Given the description of an element on the screen output the (x, y) to click on. 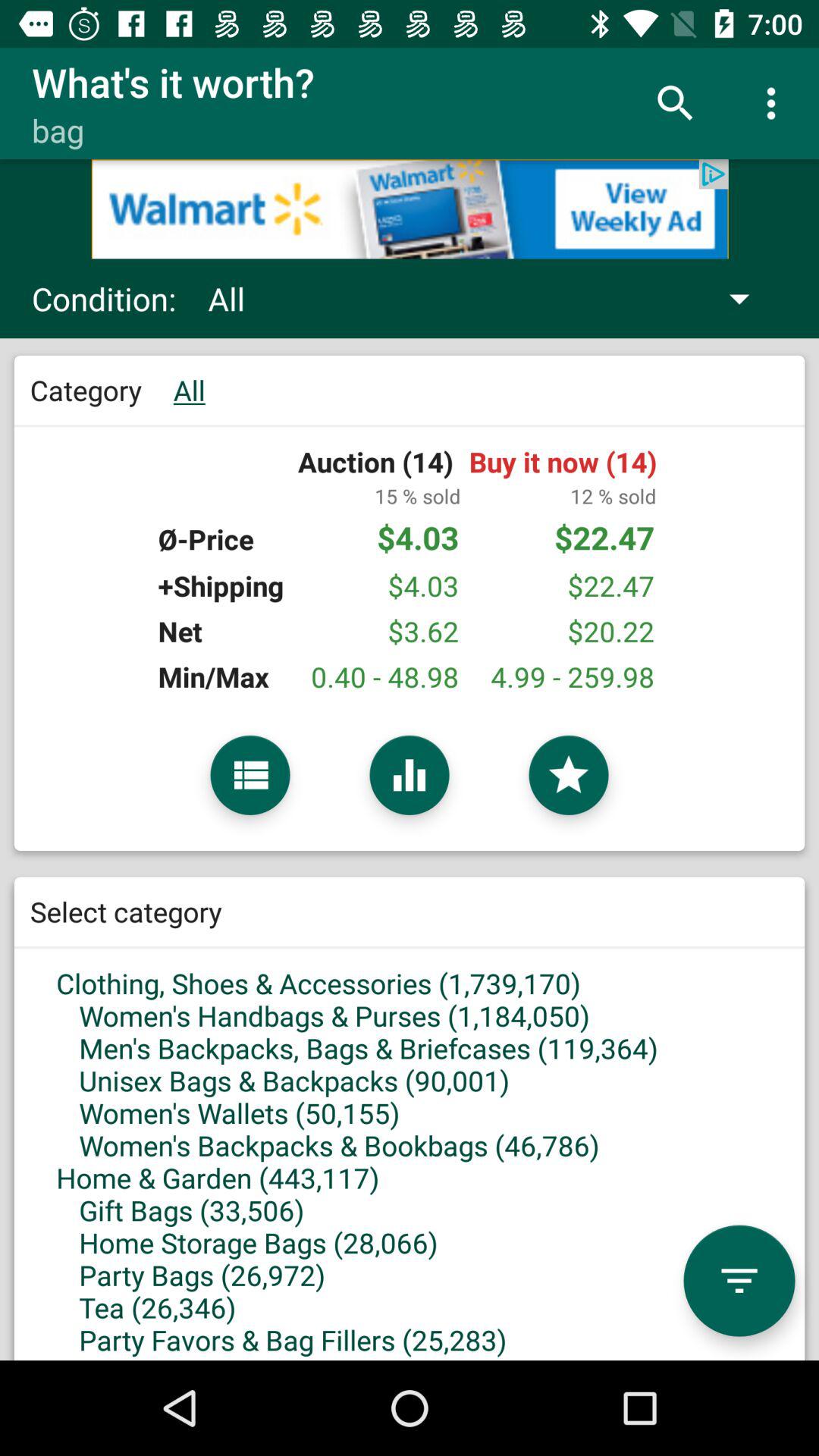
click on add (409, 208)
